Given the description of an element on the screen output the (x, y) to click on. 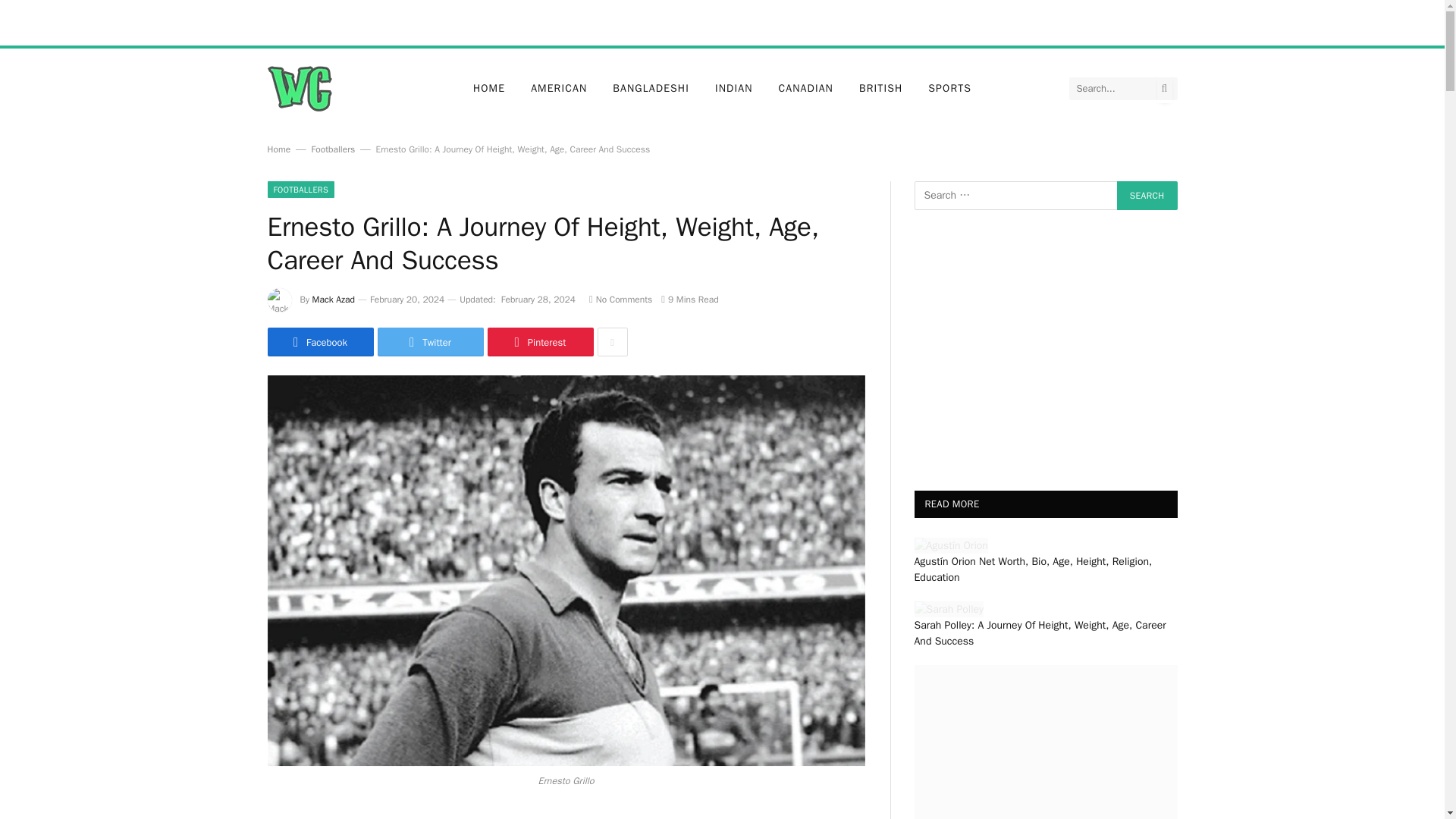
Share on Pinterest (539, 341)
BANGLADESHI (650, 88)
Twitter (430, 341)
World Celebrity (298, 88)
FOOTBALLERS (300, 189)
CANADIAN (805, 88)
No Comments (620, 299)
Search (1146, 194)
Home (277, 149)
